Given the description of an element on the screen output the (x, y) to click on. 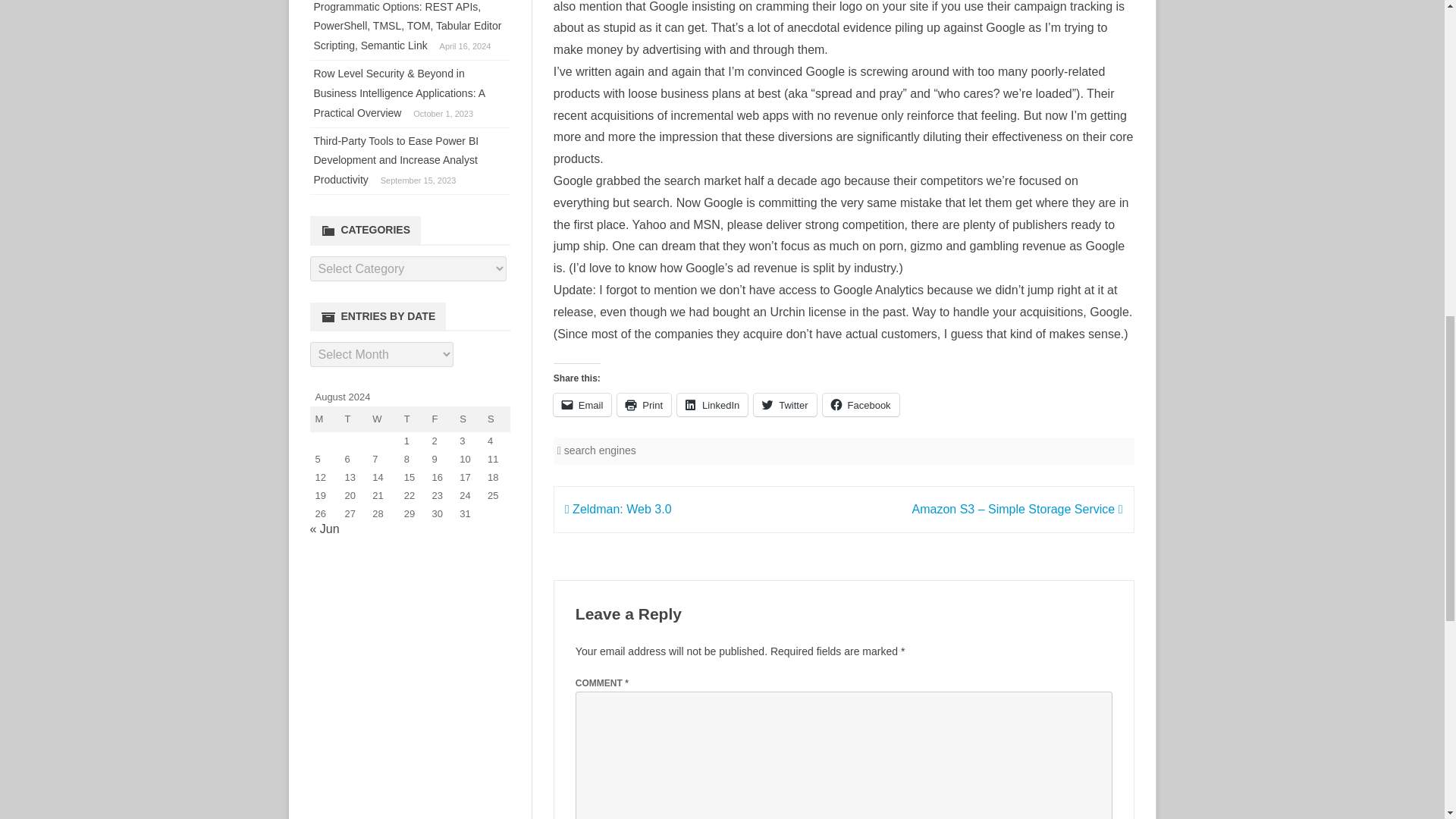
Print (644, 404)
Monday (323, 419)
Email (582, 404)
Twitter (784, 404)
Click to print (644, 404)
Click to share on Facebook (860, 404)
Click to share on LinkedIn (712, 404)
Facebook (860, 404)
